Given the description of an element on the screen output the (x, y) to click on. 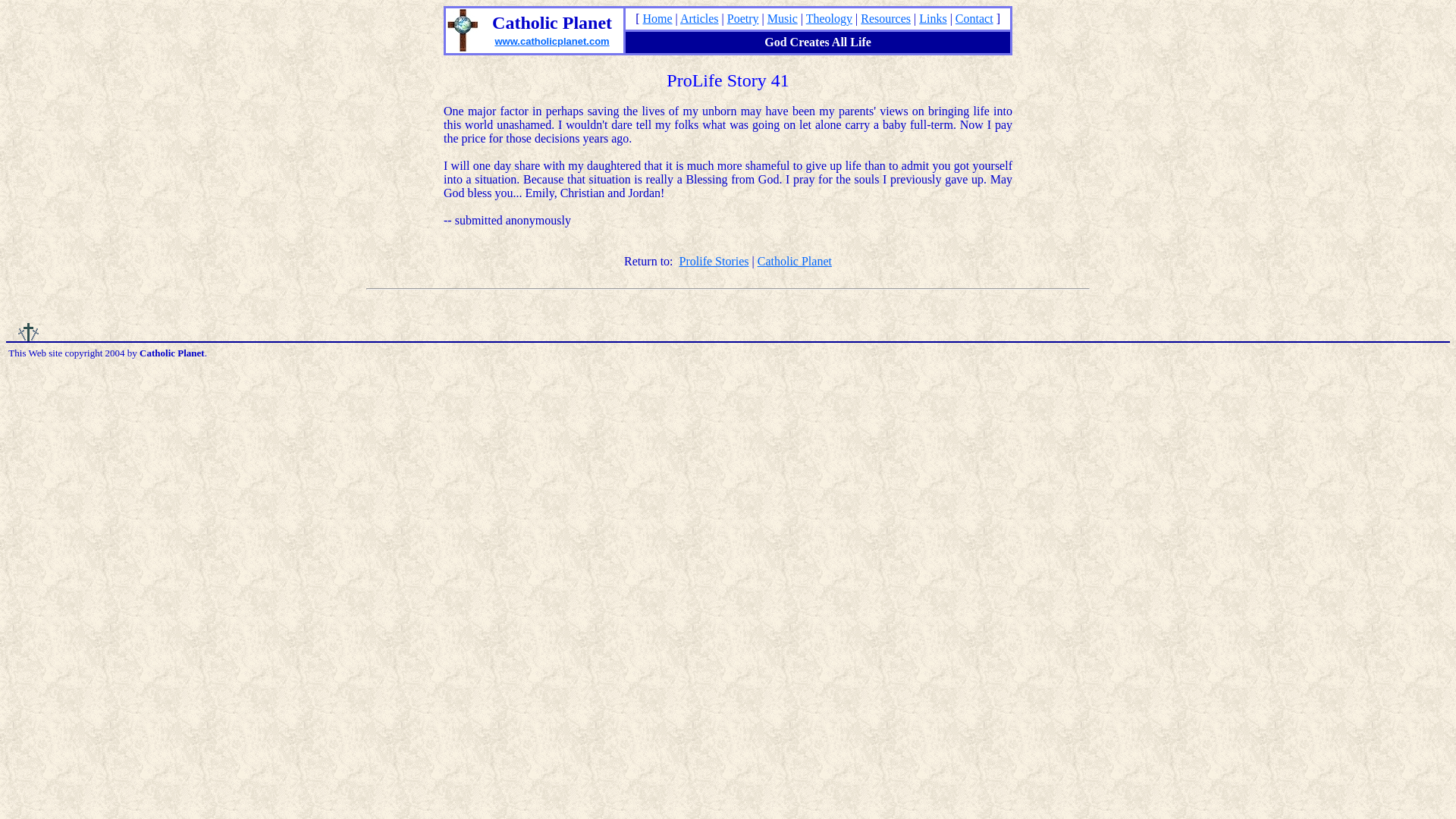
Catholic Planet (794, 260)
Articles (699, 18)
Contact (973, 18)
Poetry (742, 18)
Resources (885, 18)
Theology (828, 18)
Prolife Stories (714, 260)
www.catholicplanet.com (551, 41)
Home (657, 18)
Links (932, 18)
Music (782, 18)
